Given the description of an element on the screen output the (x, y) to click on. 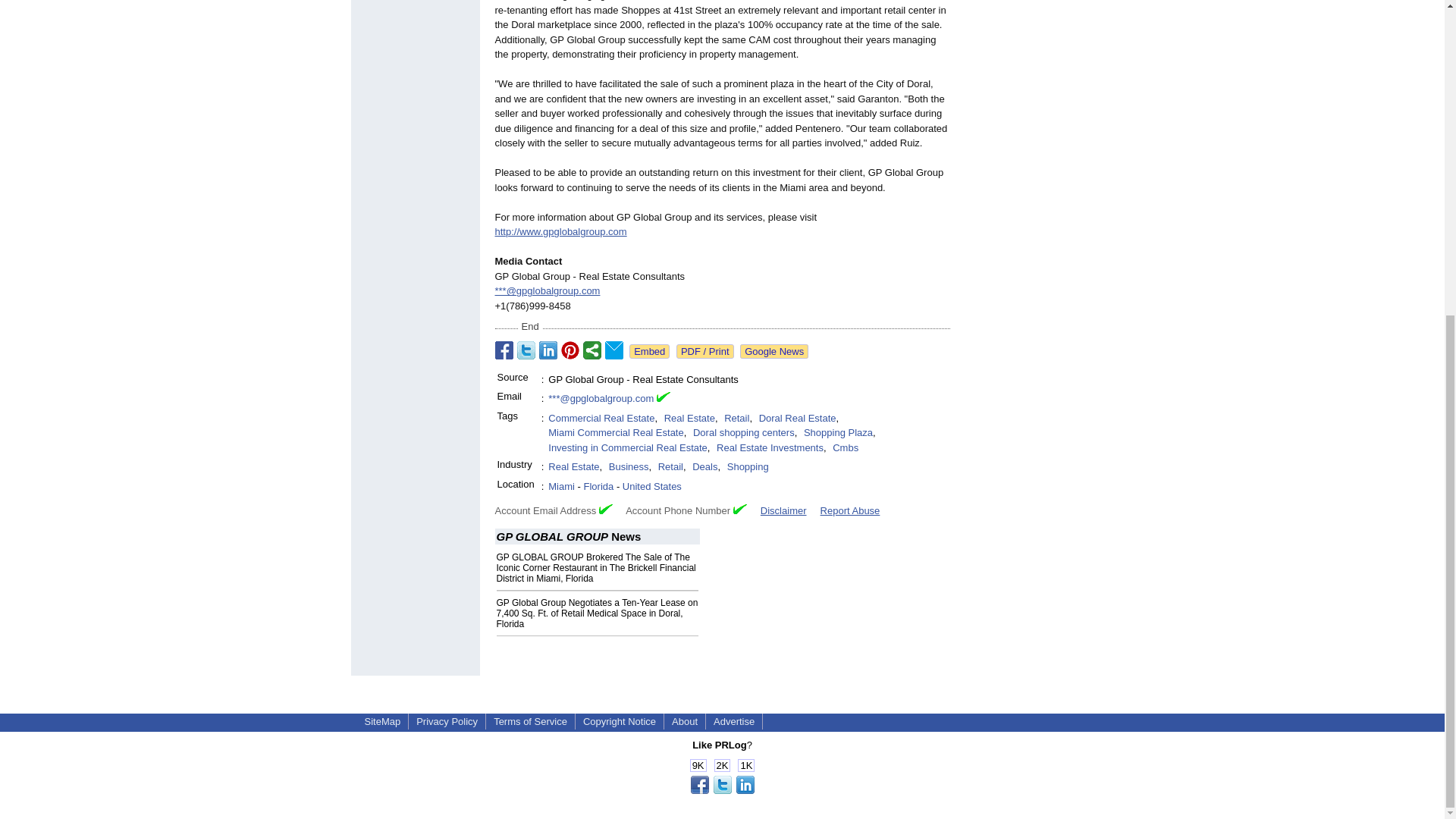
Verified (739, 509)
Share on StumbleUpon, Digg, etc (590, 350)
Embed (648, 350)
See or print the PDF version! (705, 350)
Embed (648, 350)
Embed this press release in your website! (648, 350)
Share on Twitter (525, 350)
Share on Facebook (503, 350)
Email to a Friend (614, 350)
Share this page! (722, 790)
